Given the description of an element on the screen output the (x, y) to click on. 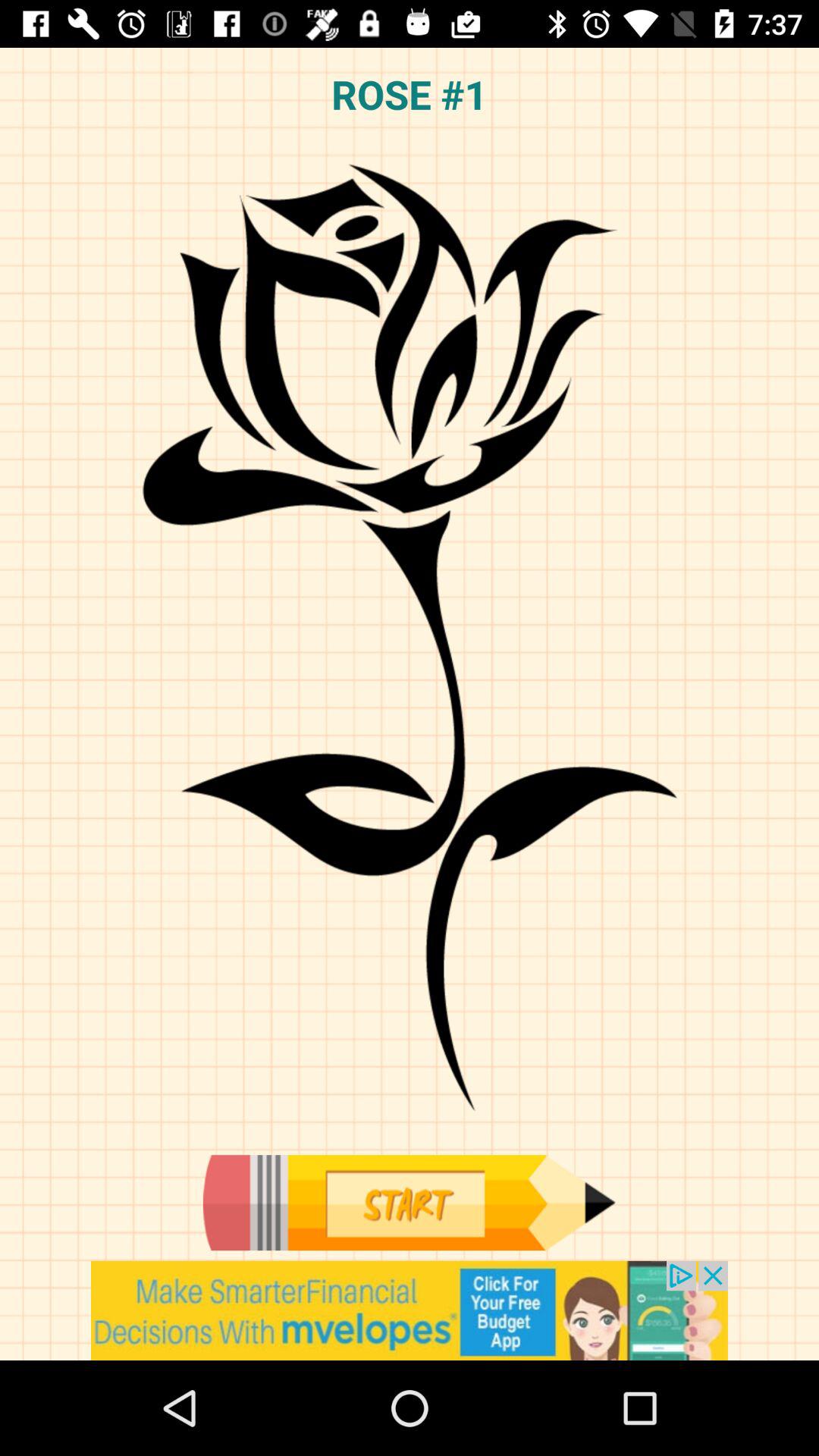
view the advertisement (409, 1310)
